Given the description of an element on the screen output the (x, y) to click on. 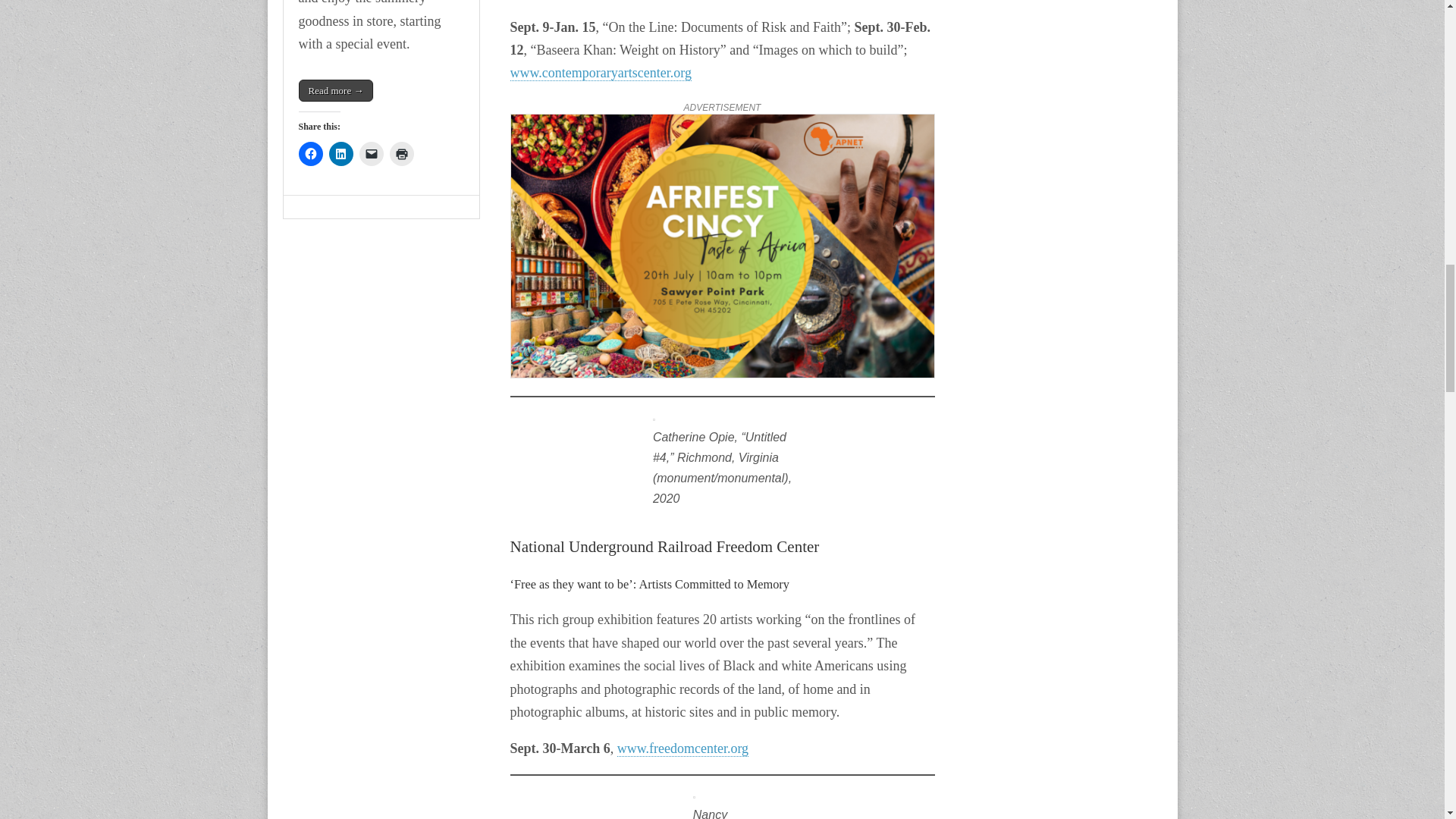
www.contemporaryartscenter.org (599, 73)
AfriFest 2024 (721, 248)
www.freedomcenter.org (682, 748)
